Given the description of an element on the screen output the (x, y) to click on. 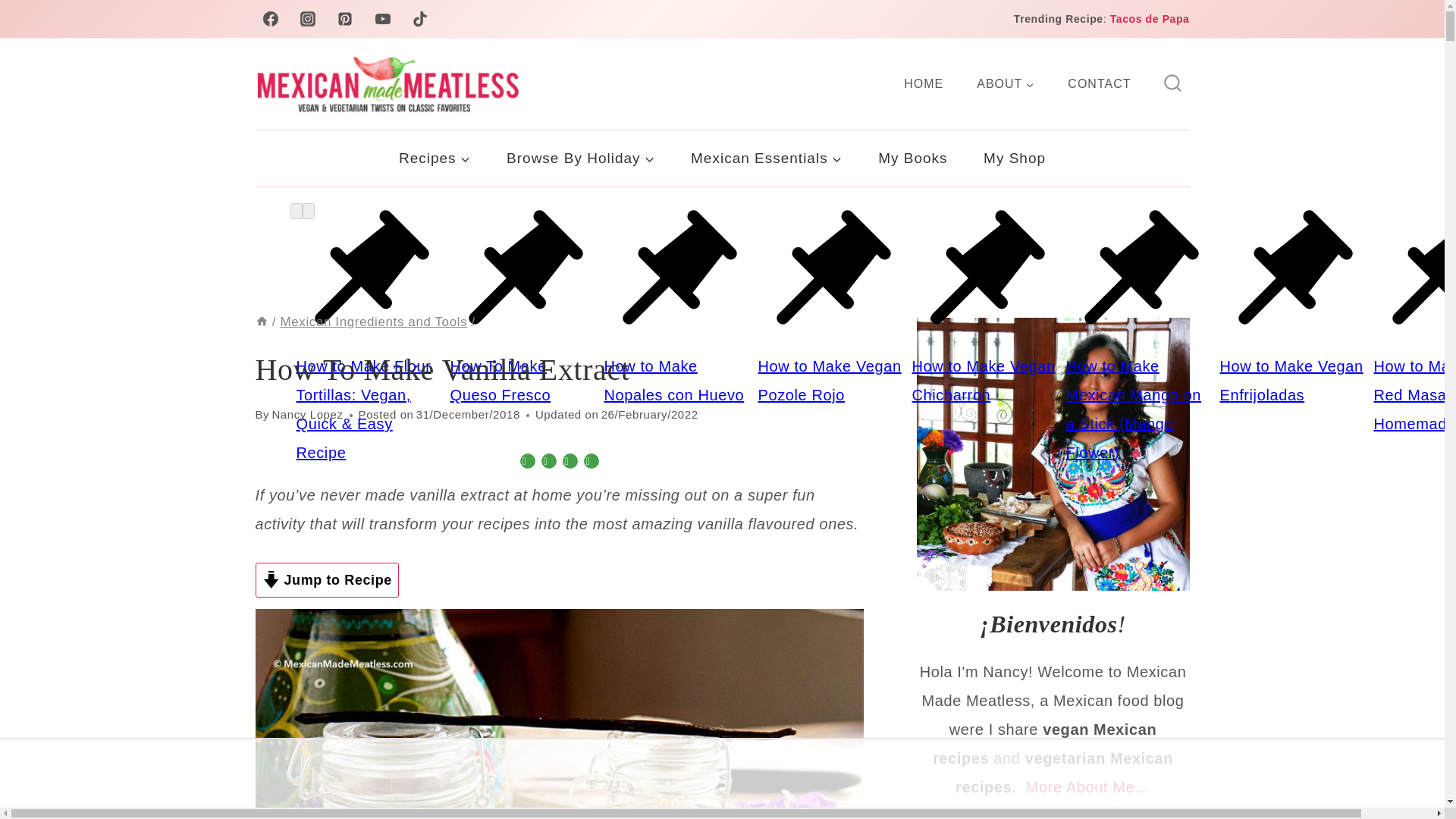
HOME (922, 84)
Facebook (548, 460)
Jump to Recipe (325, 579)
Home (260, 321)
Browse By Holiday (579, 158)
CONTACT (1099, 84)
Recipes (433, 158)
Tacos de Papa (1149, 19)
ABOUT (1005, 84)
Email This (591, 460)
Pinterest (569, 460)
